Given the description of an element on the screen output the (x, y) to click on. 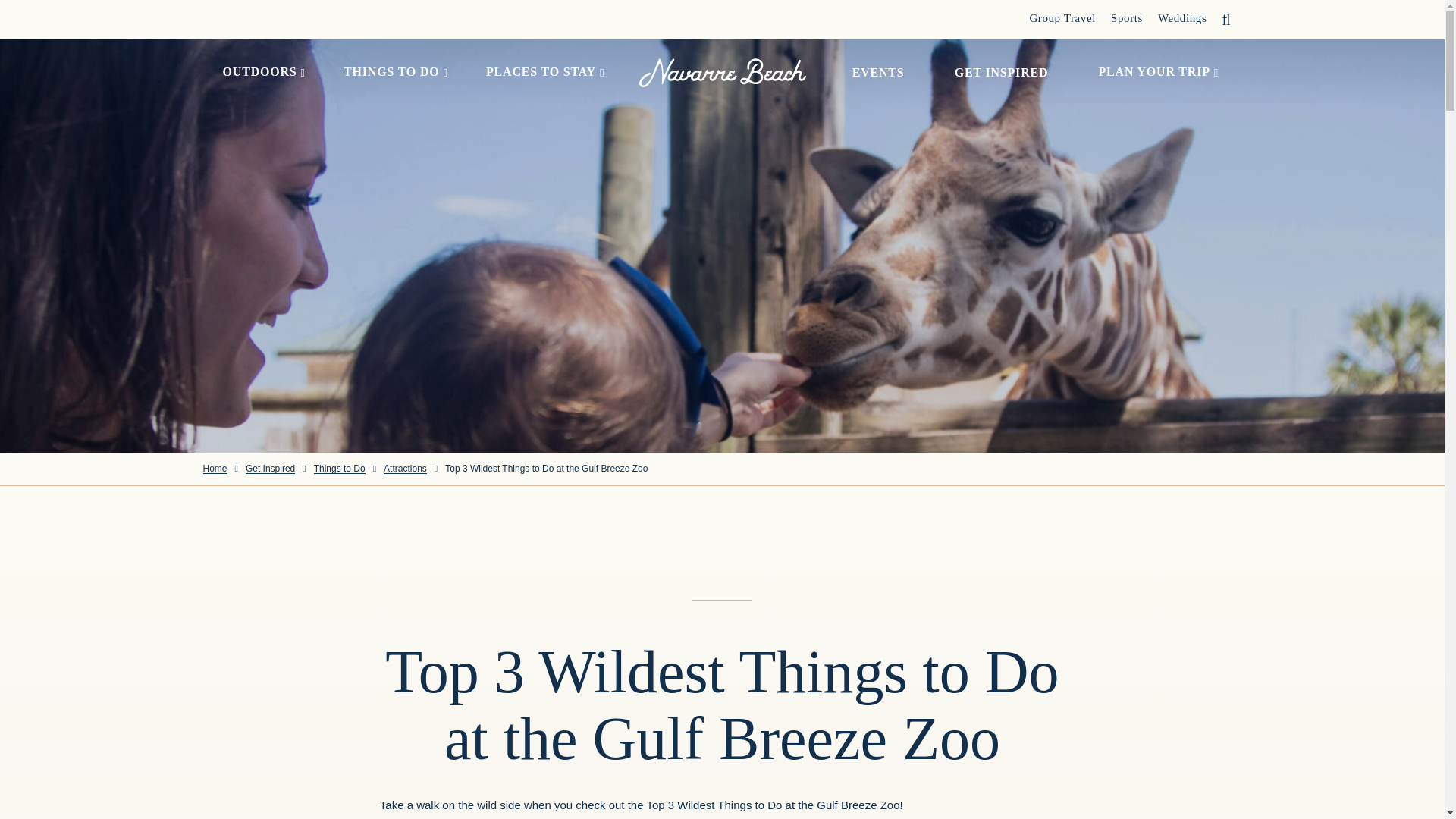
THINGS TO DO (391, 72)
Navarre Beach (722, 72)
Go to the Things to Do category archives. (339, 468)
PLACES TO STAY (540, 72)
Go to the Attractions category archives. (405, 468)
GET INSPIRED (1001, 71)
Go to Navarre Beach. (215, 468)
PLAN YOUR TRIP (1154, 72)
Weddings (1182, 18)
EVENTS (877, 71)
